Given the description of an element on the screen output the (x, y) to click on. 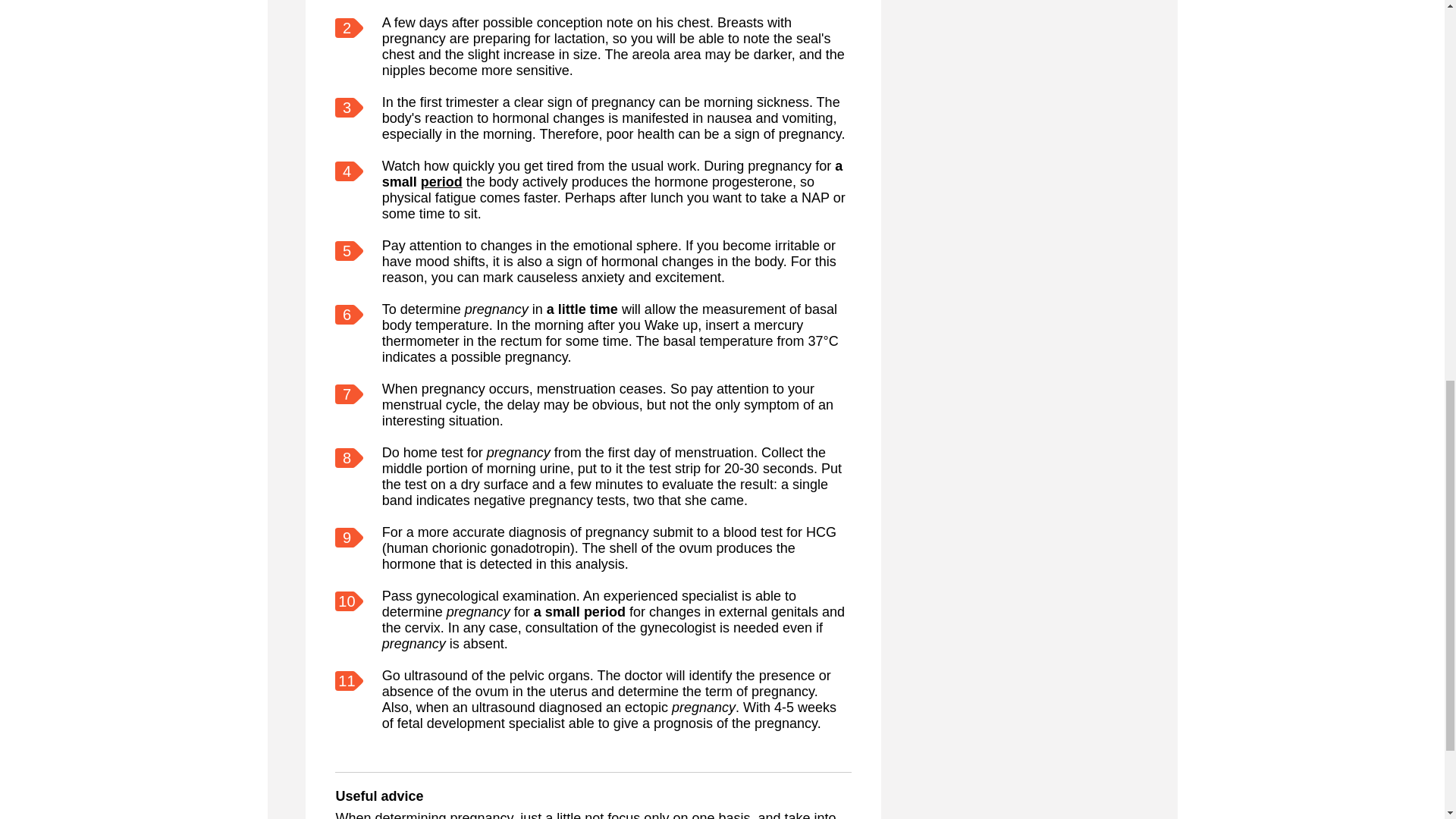
period (441, 181)
